Given the description of an element on the screen output the (x, y) to click on. 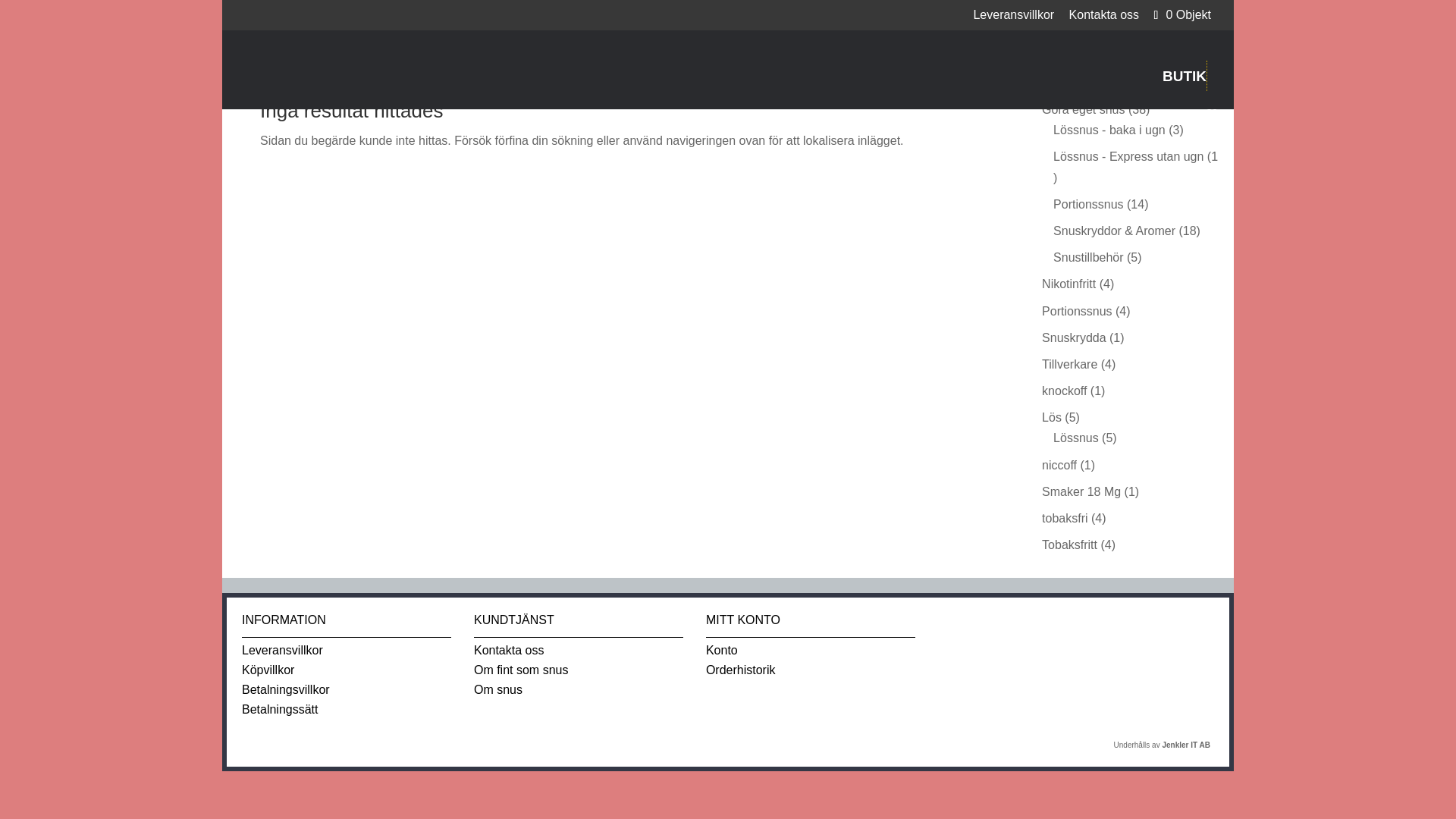
Betalningsvillkor (285, 689)
Tobaksfritt (1069, 544)
Kontakta oss (1104, 19)
Portionssnus (1077, 310)
Kontakta oss (509, 649)
Jenkler IT AB (1185, 745)
Tillverkare (1069, 364)
Om snus (498, 689)
Portionssnus (1088, 204)
Smaker 18 Mg (1081, 491)
